Given the description of an element on the screen output the (x, y) to click on. 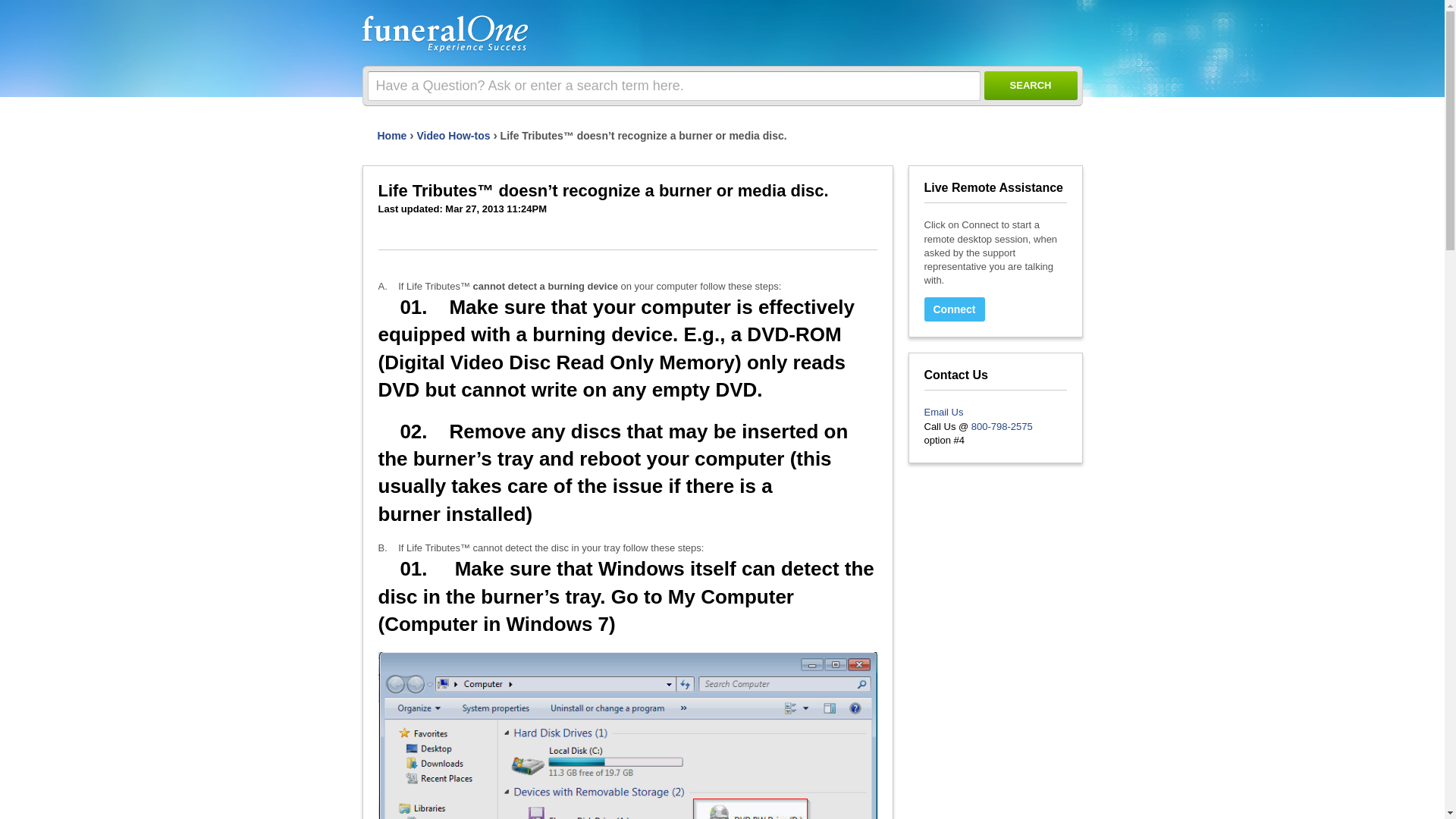
SEARCH (1030, 85)
800-798-2575 (1001, 426)
Email Us (942, 411)
Home (392, 135)
Connect (953, 309)
Video How-tos (453, 135)
